Given the description of an element on the screen output the (x, y) to click on. 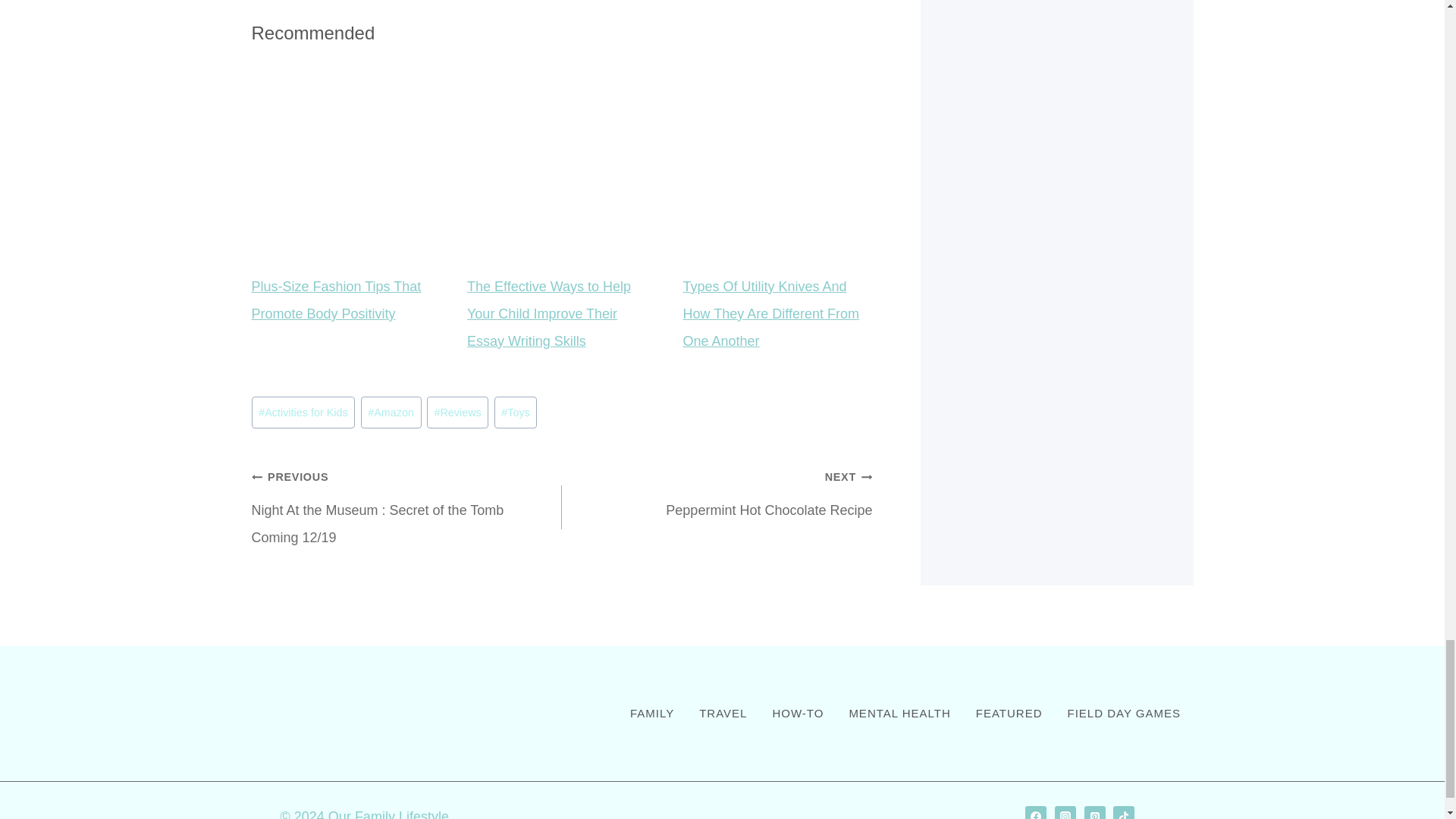
Amazon (391, 412)
Toys (516, 412)
Activities for Kids (303, 412)
Reviews (457, 412)
